Given the description of an element on the screen output the (x, y) to click on. 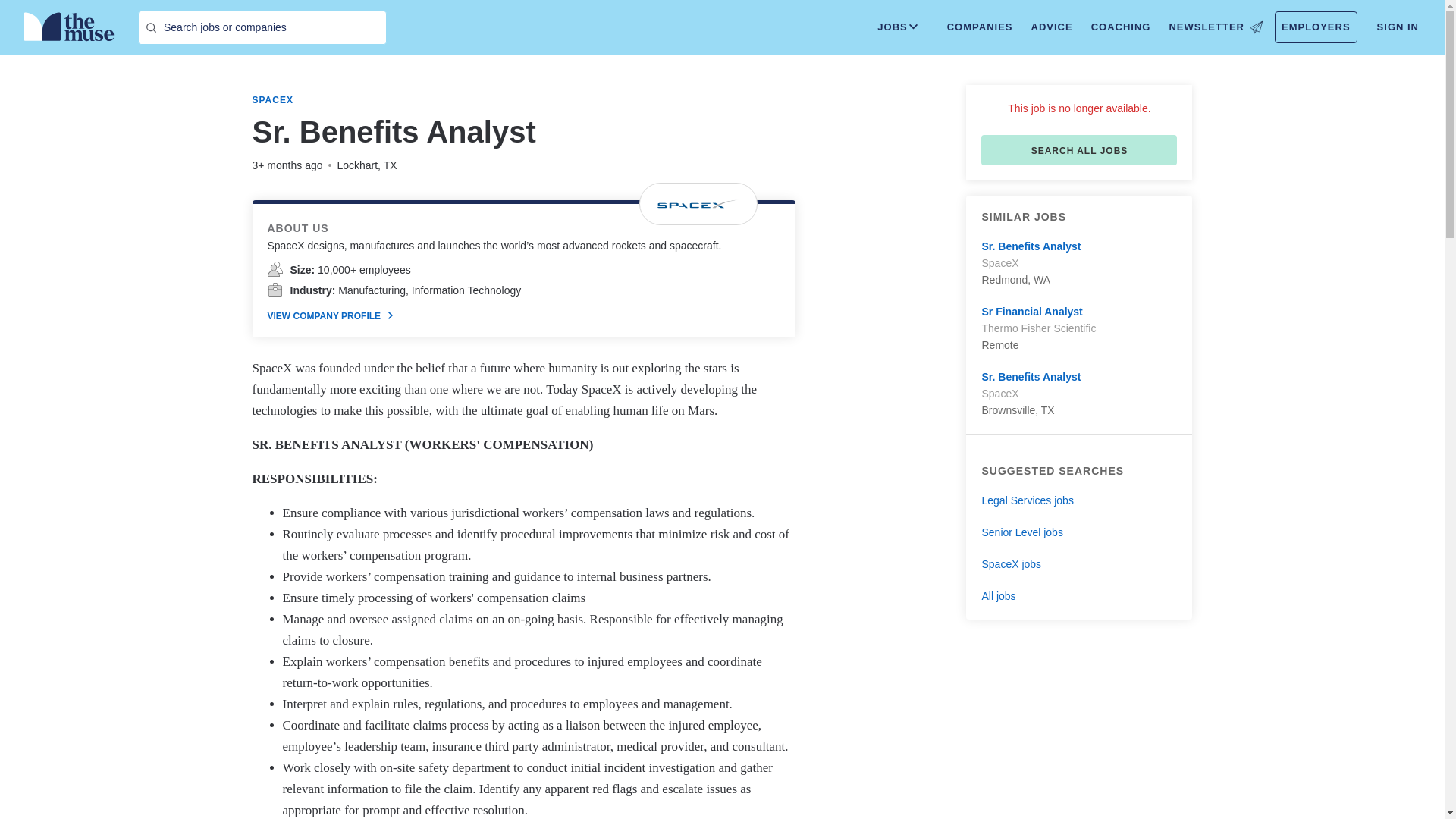
SIGN IN (1398, 27)
COACHING (1120, 27)
VIEW COMPANY PROFILE (329, 316)
NEWSLETTER (1214, 27)
EMPLOYERS (1315, 27)
ADVICE (1051, 27)
COMPANIES (979, 27)
SPACEX (271, 100)
